Given the description of an element on the screen output the (x, y) to click on. 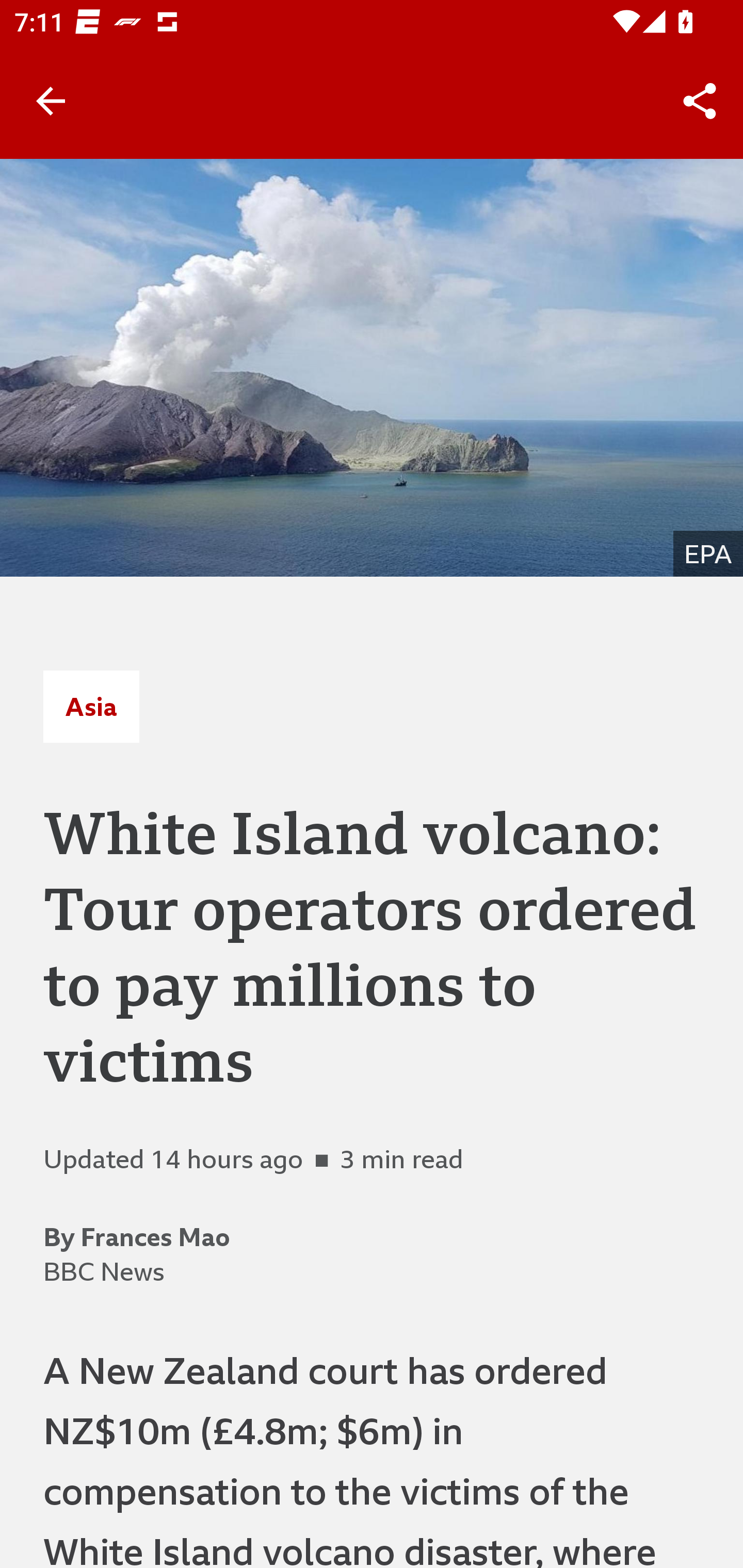
Back (50, 101)
Share (699, 101)
White Island volcano erupts (371, 367)
Asia (91, 706)
